Given the description of an element on the screen output the (x, y) to click on. 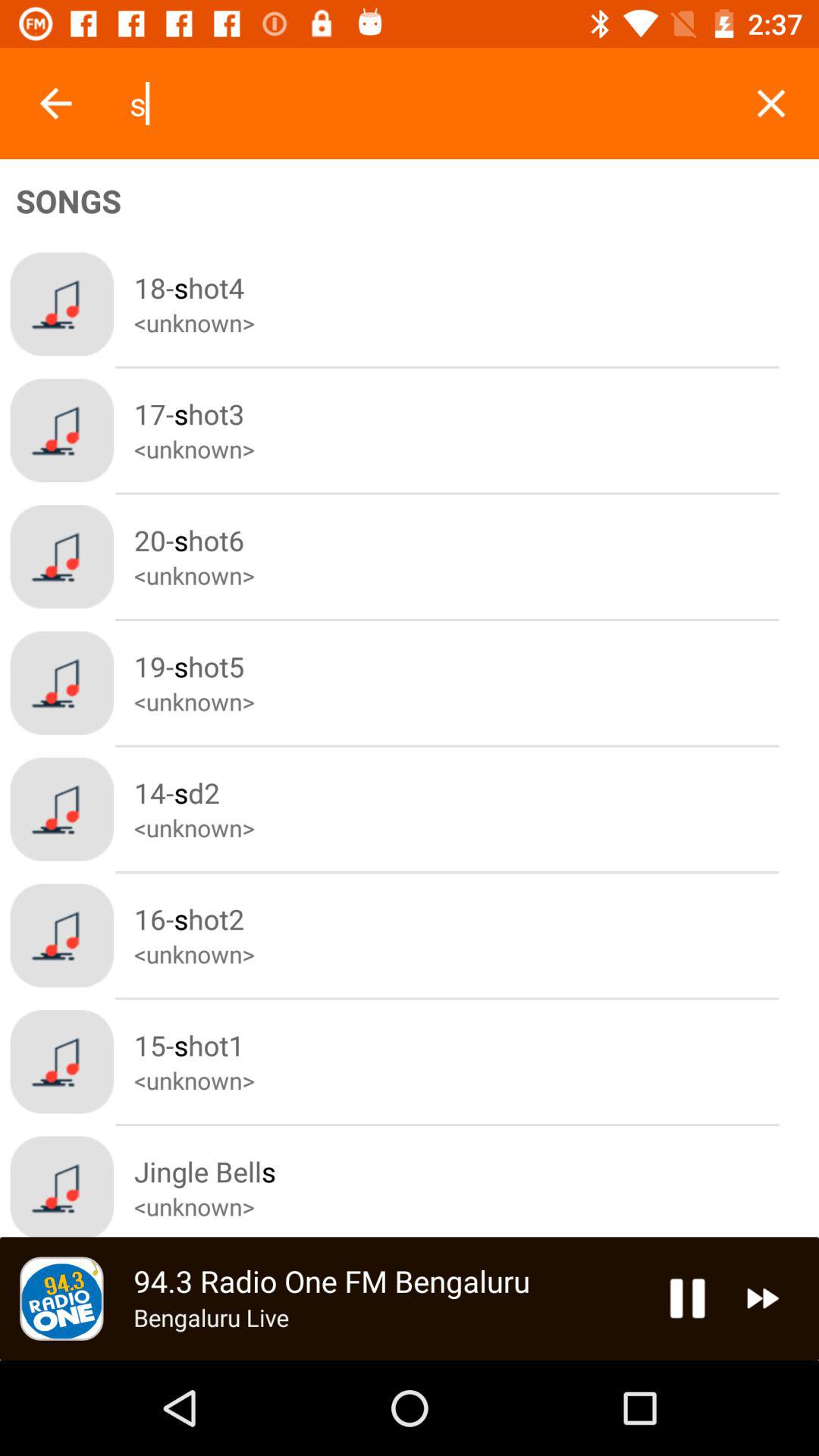
select the 20shot6 button (476, 556)
click on the button above 17shot3 (476, 304)
click on option above jingle bells (476, 1061)
select second image in songs from bottom (61, 1061)
select the fifth text from the top in songs (476, 809)
select the symbol which is to the left 14sd2 (61, 809)
click on search bar (425, 103)
select the forth song (476, 682)
